Given the description of an element on the screen output the (x, y) to click on. 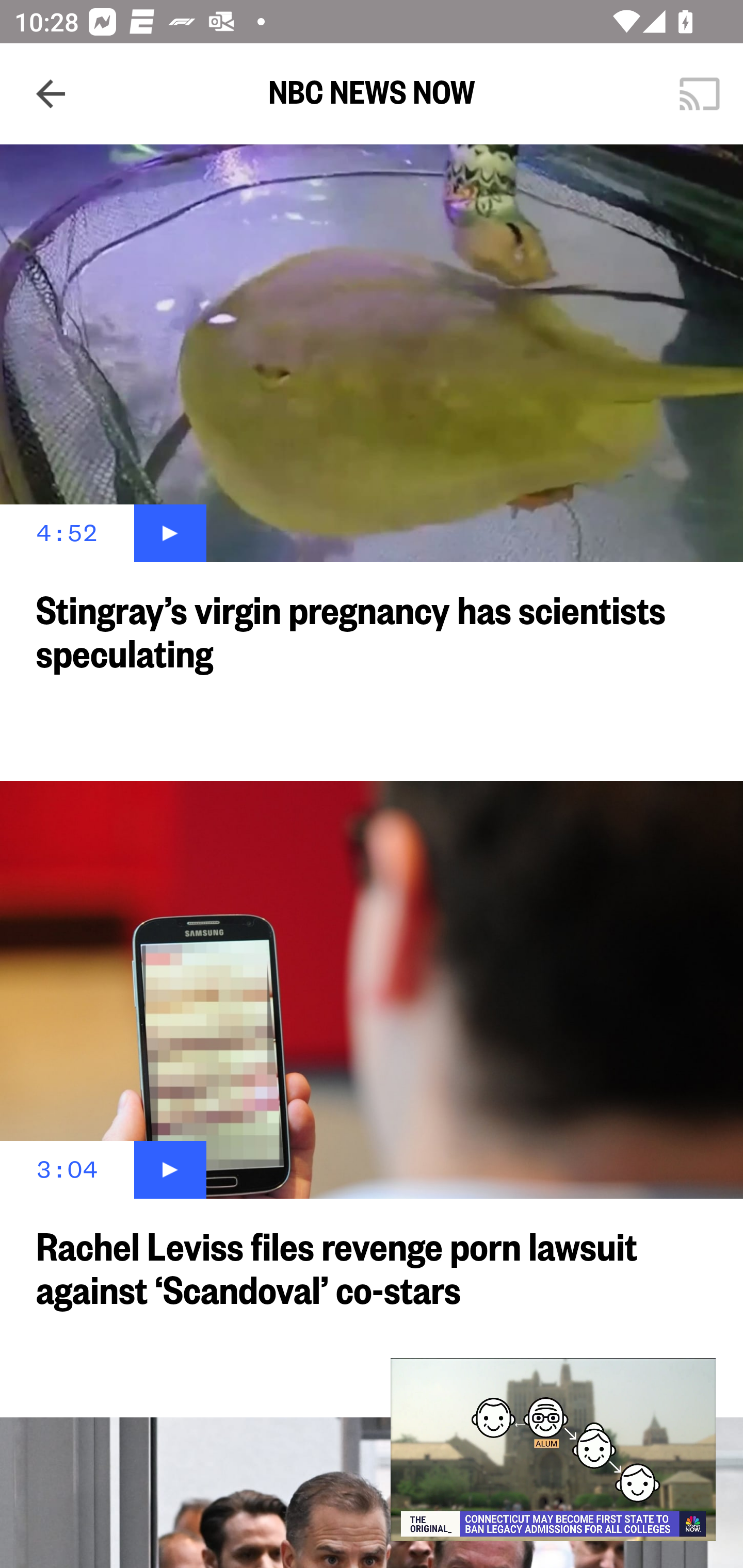
Navigate up (50, 93)
Cast. Disconnected (699, 93)
